Given the description of an element on the screen output the (x, y) to click on. 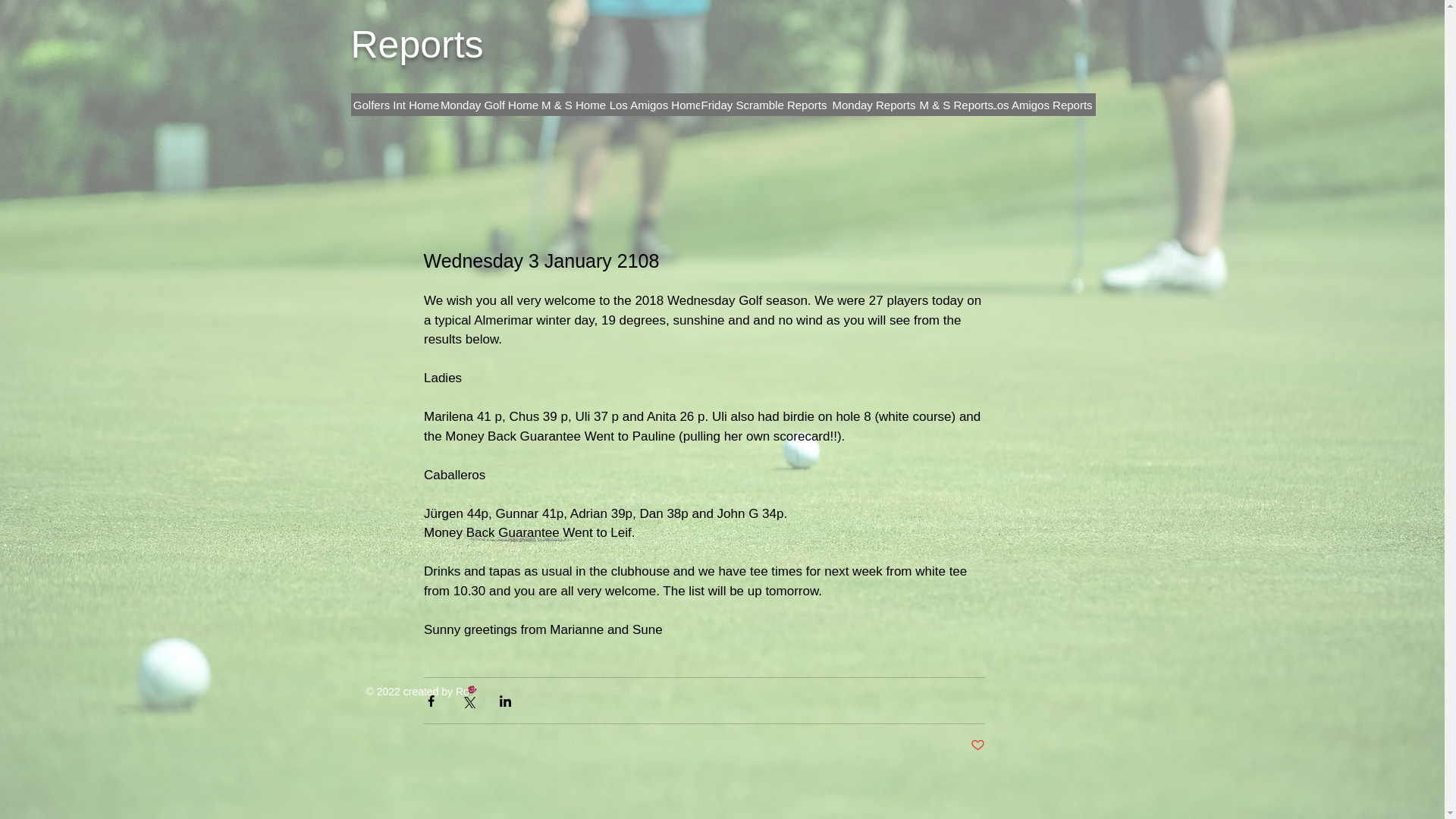
Monday Golf Home (488, 104)
Friday Scramble Reports (763, 104)
Where We Play (764, 104)
Reports (416, 44)
Golf in Almerimar Home (496, 104)
Golfers Int Home (395, 104)
Monday Reports (873, 104)
Los Amigos Home (655, 104)
Post not marked as liked (978, 745)
Los Amigos Reports (1040, 104)
